Given the description of an element on the screen output the (x, y) to click on. 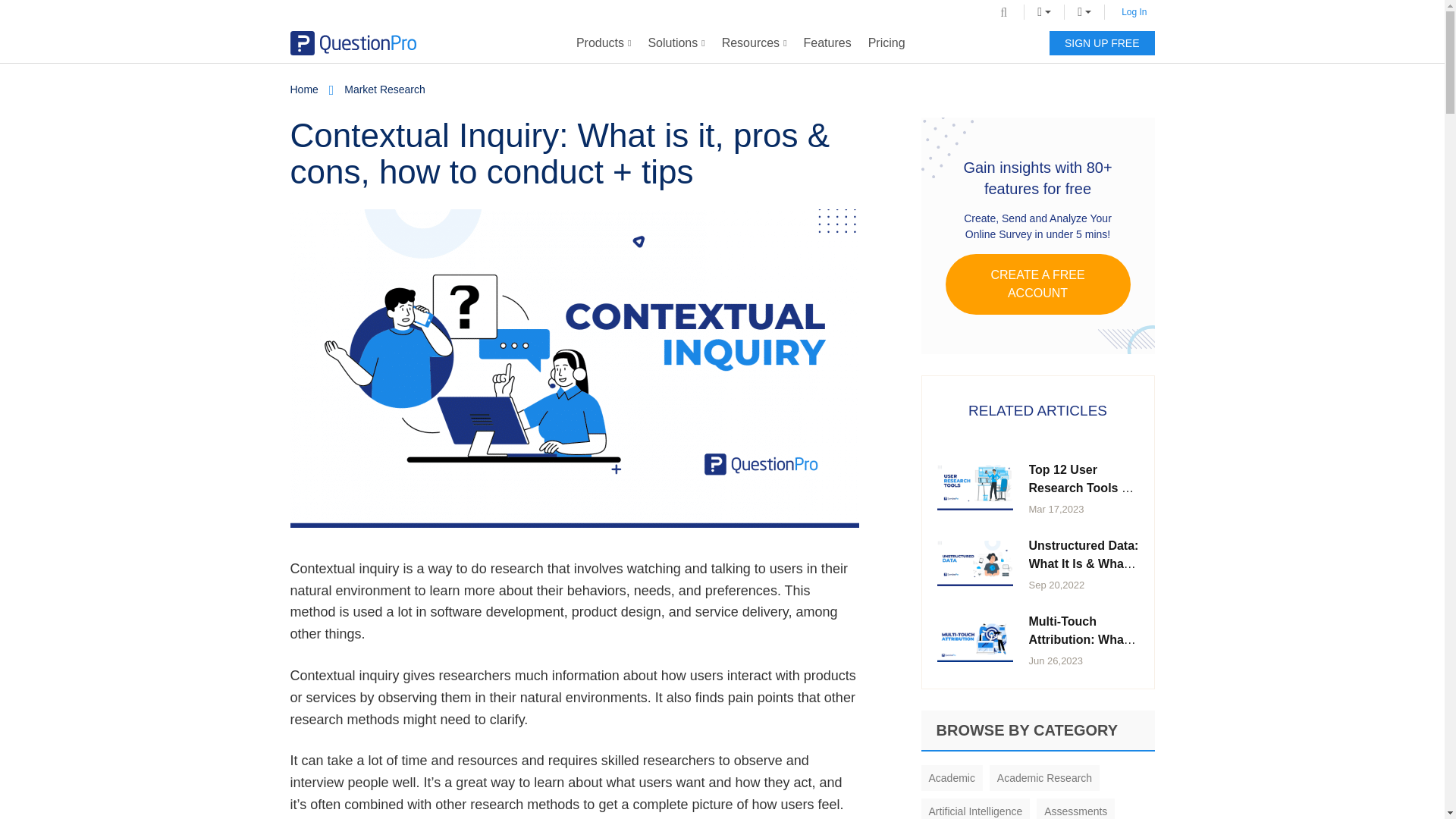
Resources (753, 42)
Pricing (887, 42)
Features (827, 42)
Products (603, 42)
Solutions (676, 42)
